Given the description of an element on the screen output the (x, y) to click on. 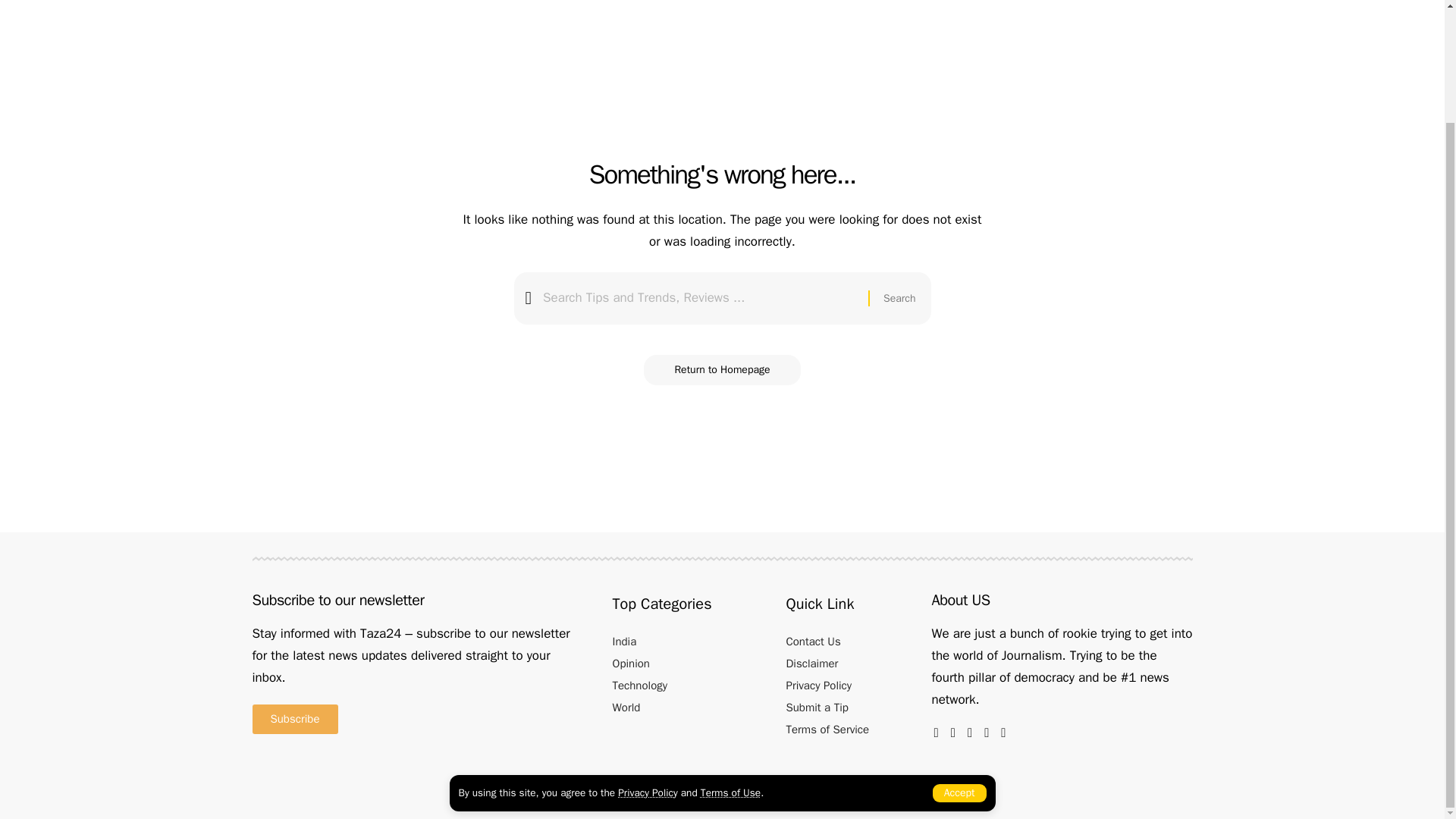
Accept (960, 659)
Terms of Use (730, 658)
Privacy Policy (647, 658)
Search (899, 297)
